Given the description of an element on the screen output the (x, y) to click on. 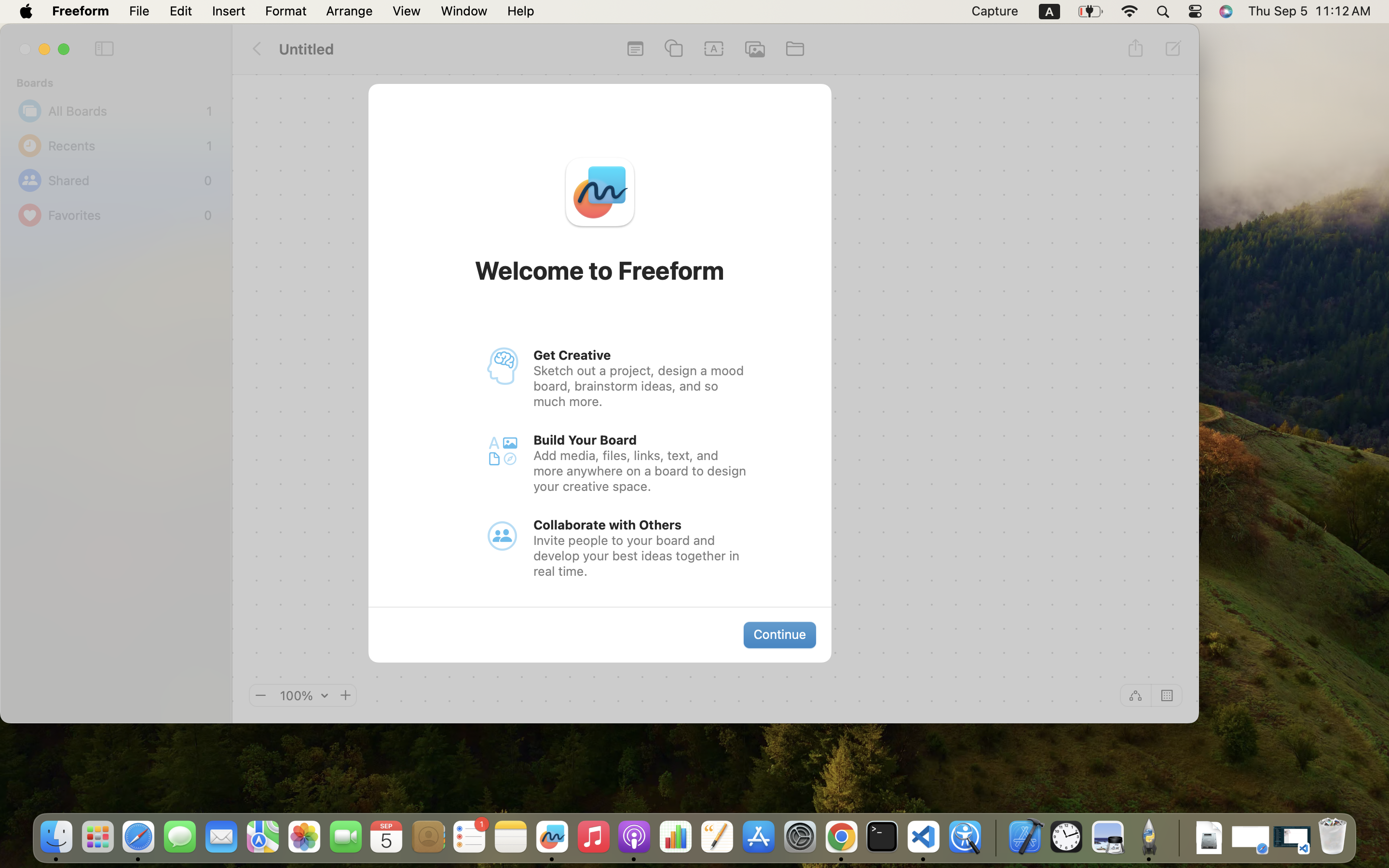
Invite people to your board and develop your best ideas together in real time. Element type: AXStaticText (641, 555)
Boards Element type: AXStaticText (121, 82)
Off Element type: AXButton (1134, 694)
